Given the description of an element on the screen output the (x, y) to click on. 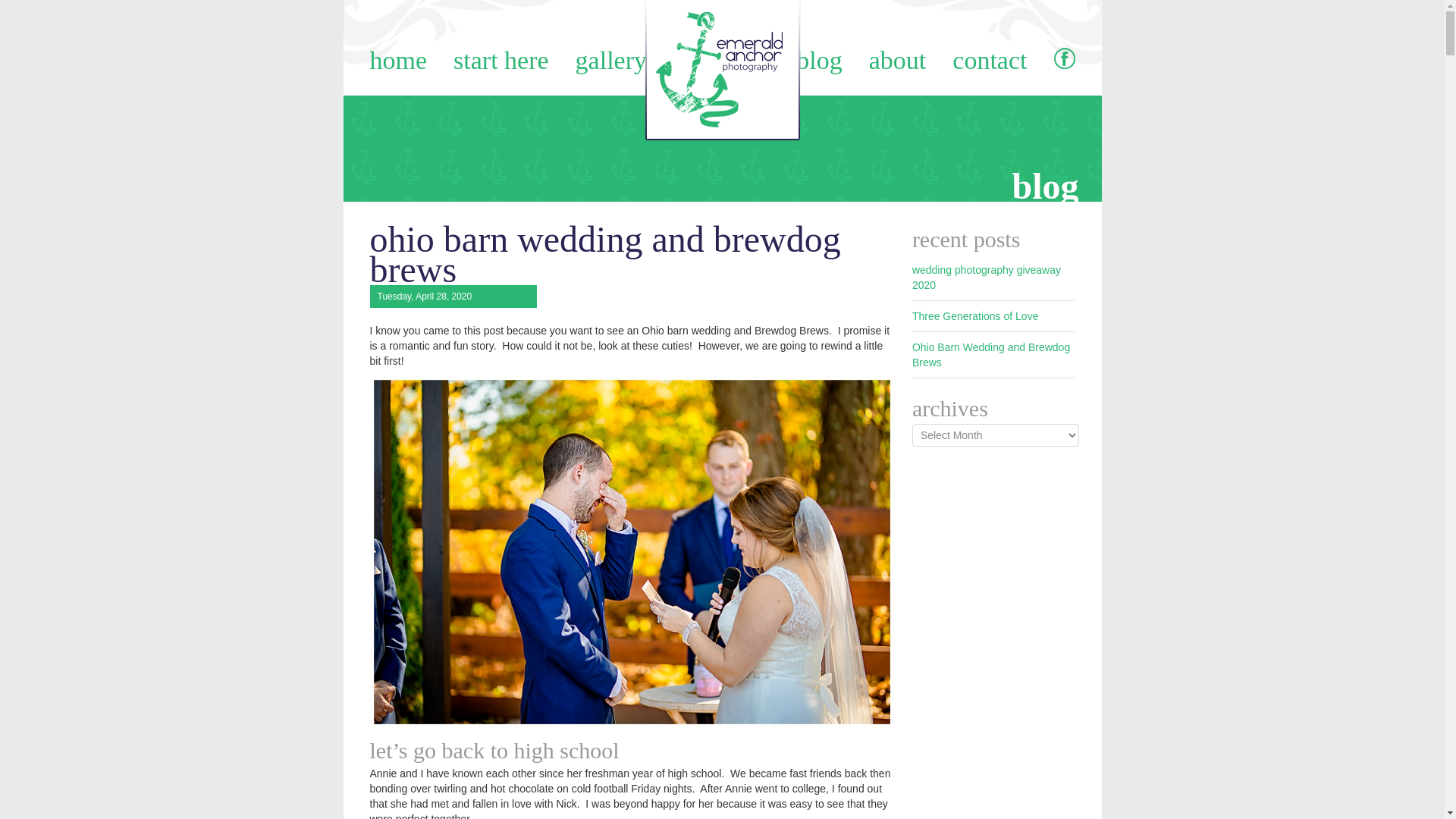
about (897, 59)
home (398, 59)
start here (500, 59)
contact (989, 59)
gallery (610, 59)
blog (818, 59)
